Given the description of an element on the screen output the (x, y) to click on. 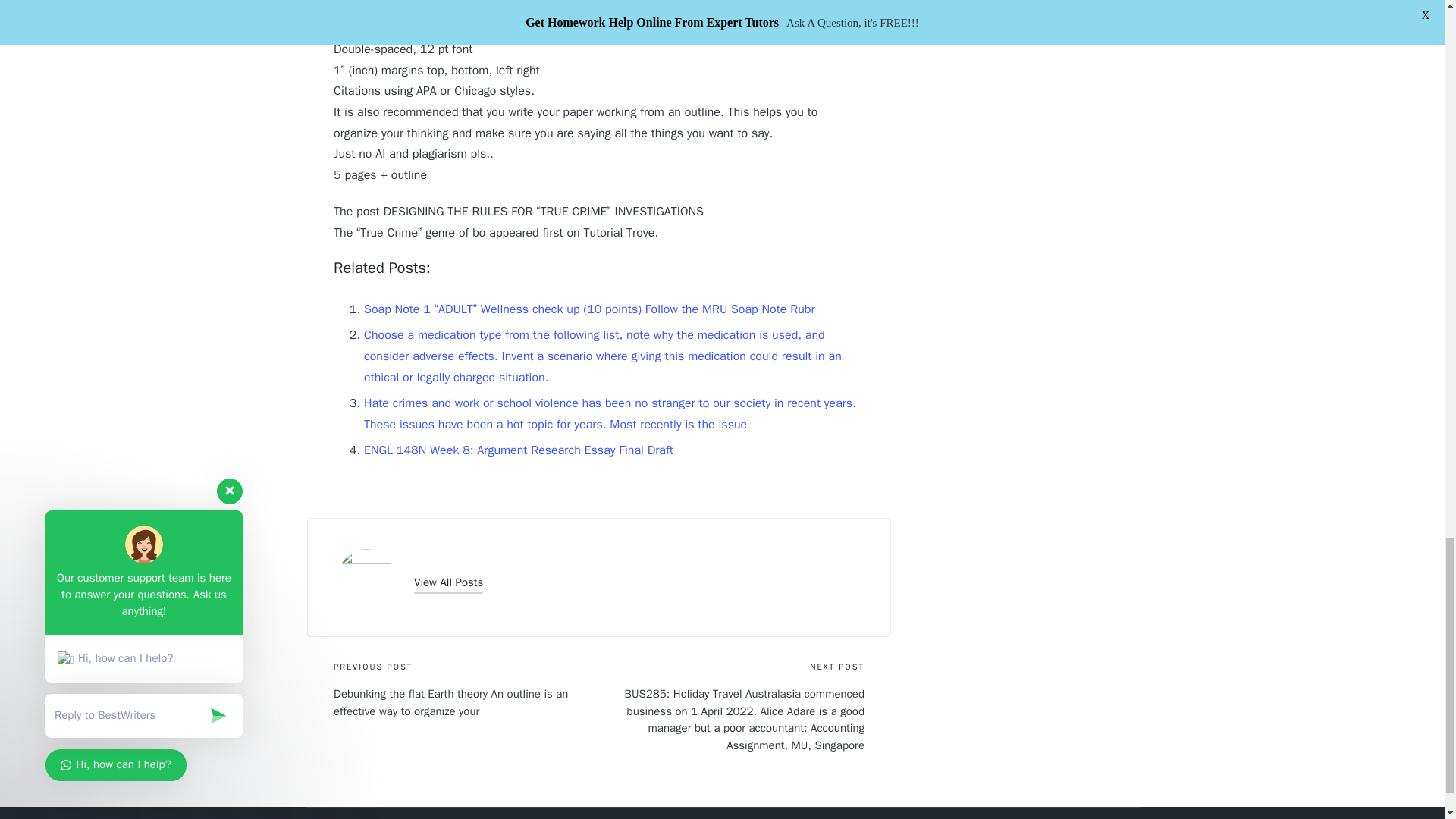
ENGL 148N Week 8: Argument Research Essay Final Draft (518, 450)
ENGL 148N Week 8: Argument Research Essay Final Draft (518, 450)
View All Posts (448, 582)
